Given the description of an element on the screen output the (x, y) to click on. 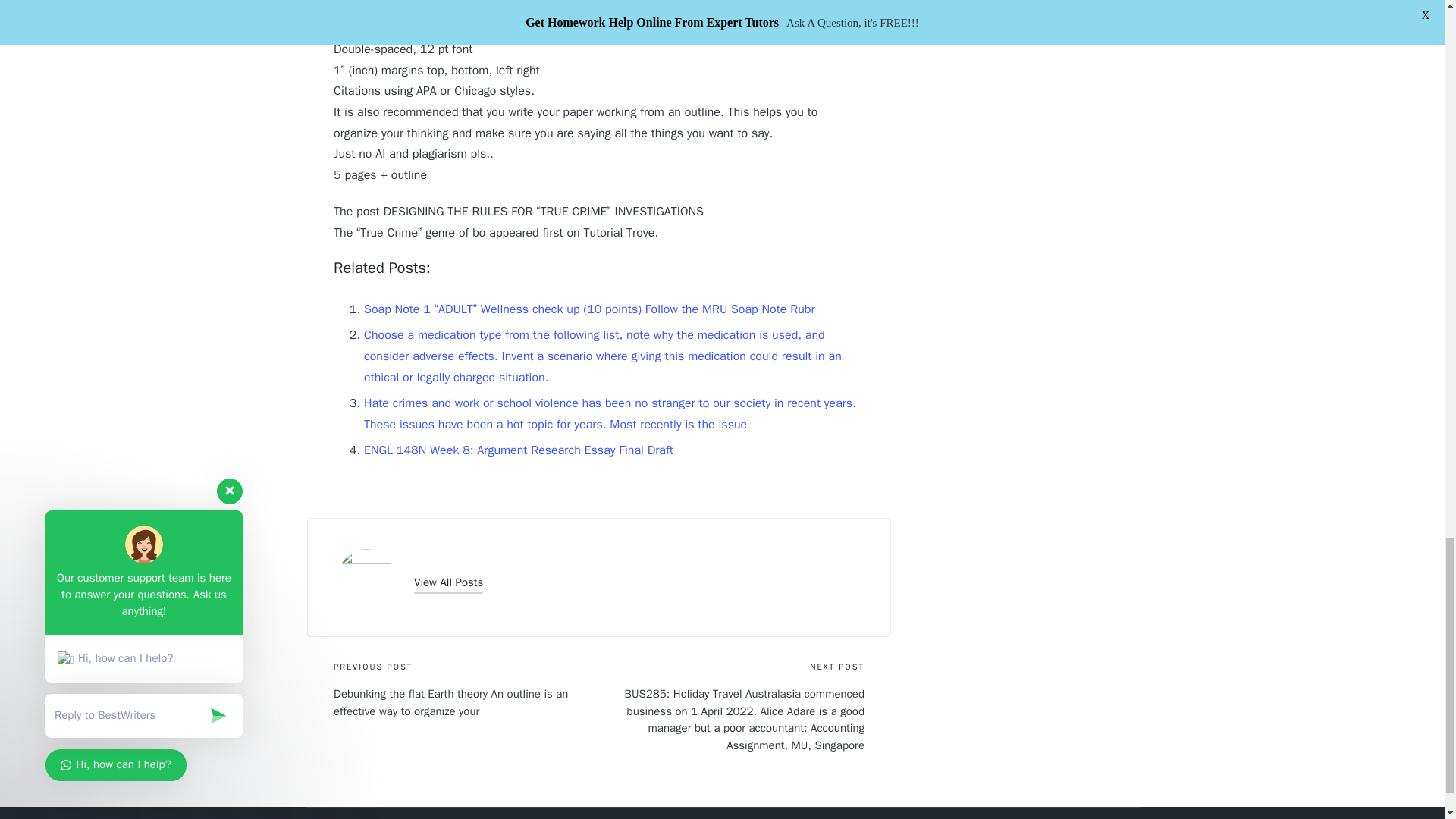
ENGL 148N Week 8: Argument Research Essay Final Draft (518, 450)
ENGL 148N Week 8: Argument Research Essay Final Draft (518, 450)
View All Posts (448, 582)
